Given the description of an element on the screen output the (x, y) to click on. 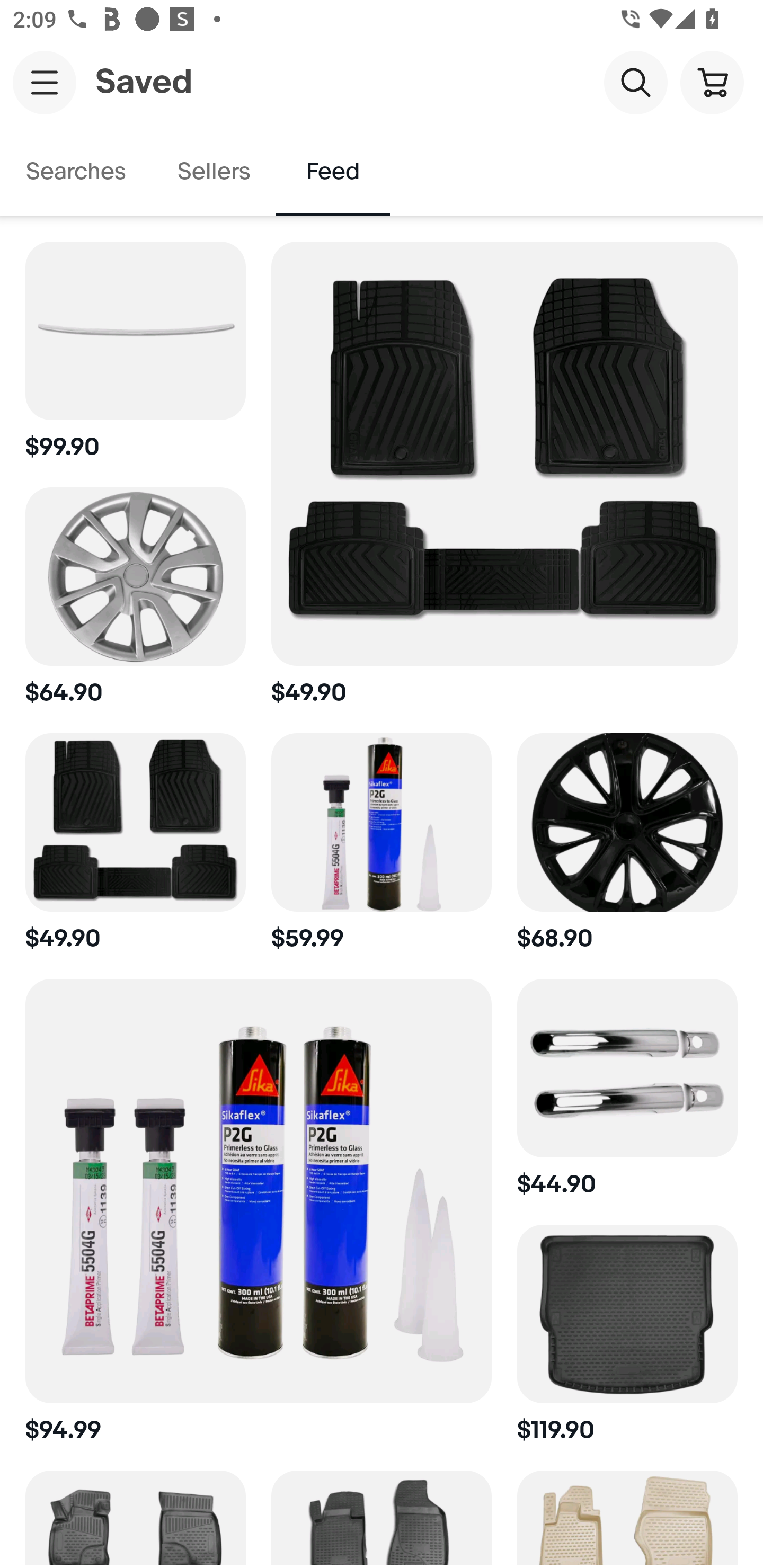
Main navigation, open (44, 82)
Search (635, 81)
Cart button shopping cart (711, 81)
Searches (75, 171)
Sellers (213, 171)
